Given the description of an element on the screen output the (x, y) to click on. 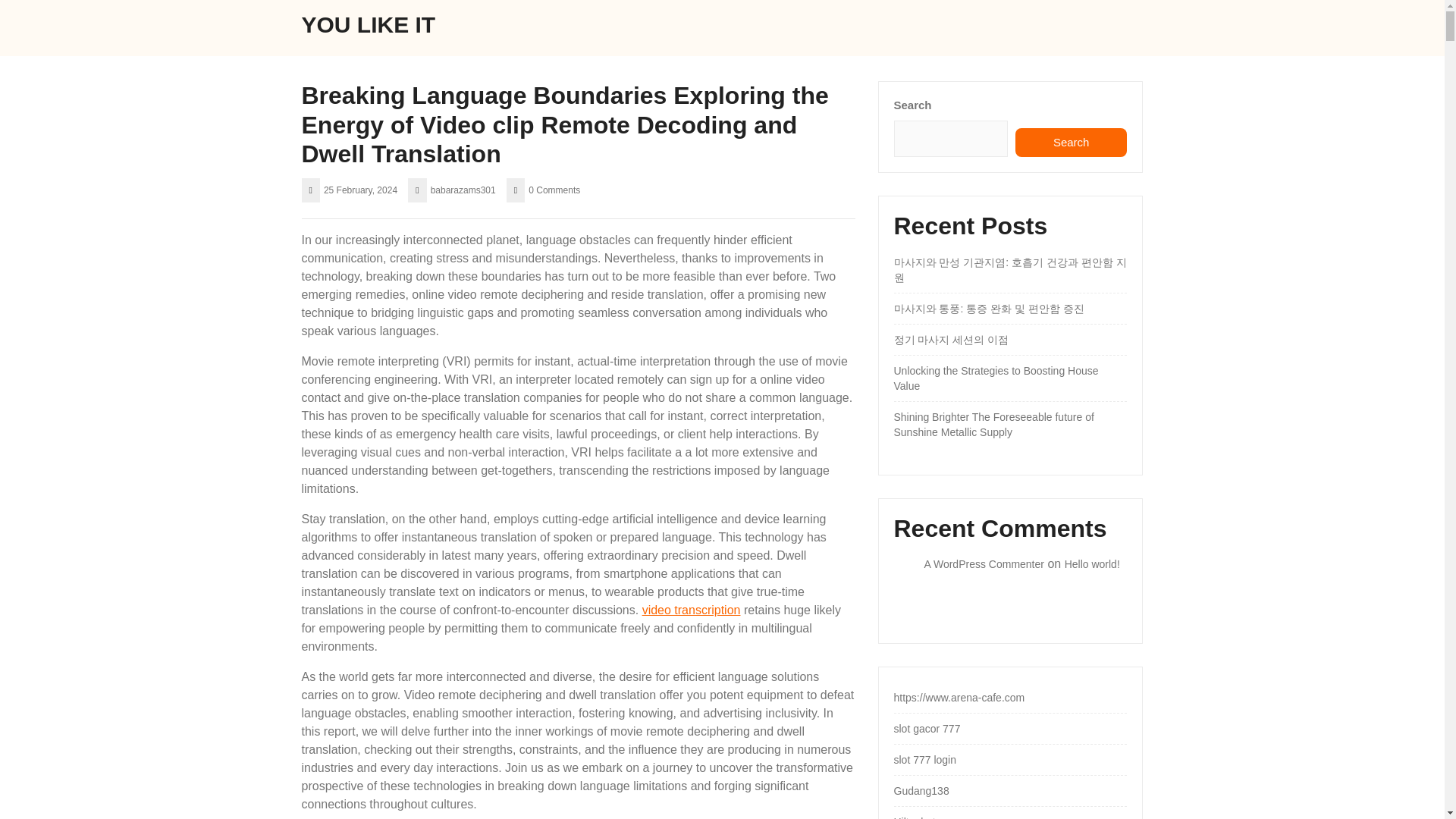
slot 777 login (924, 759)
slot gacor 777 (926, 728)
Unlocking the Strategies to Boosting House Value (995, 378)
Search (1070, 142)
Hiltonbet (913, 817)
A WordPress Commenter (983, 563)
YOU LIKE IT (368, 24)
video transcription (691, 609)
Hello world! (1091, 563)
